Given the description of an element on the screen output the (x, y) to click on. 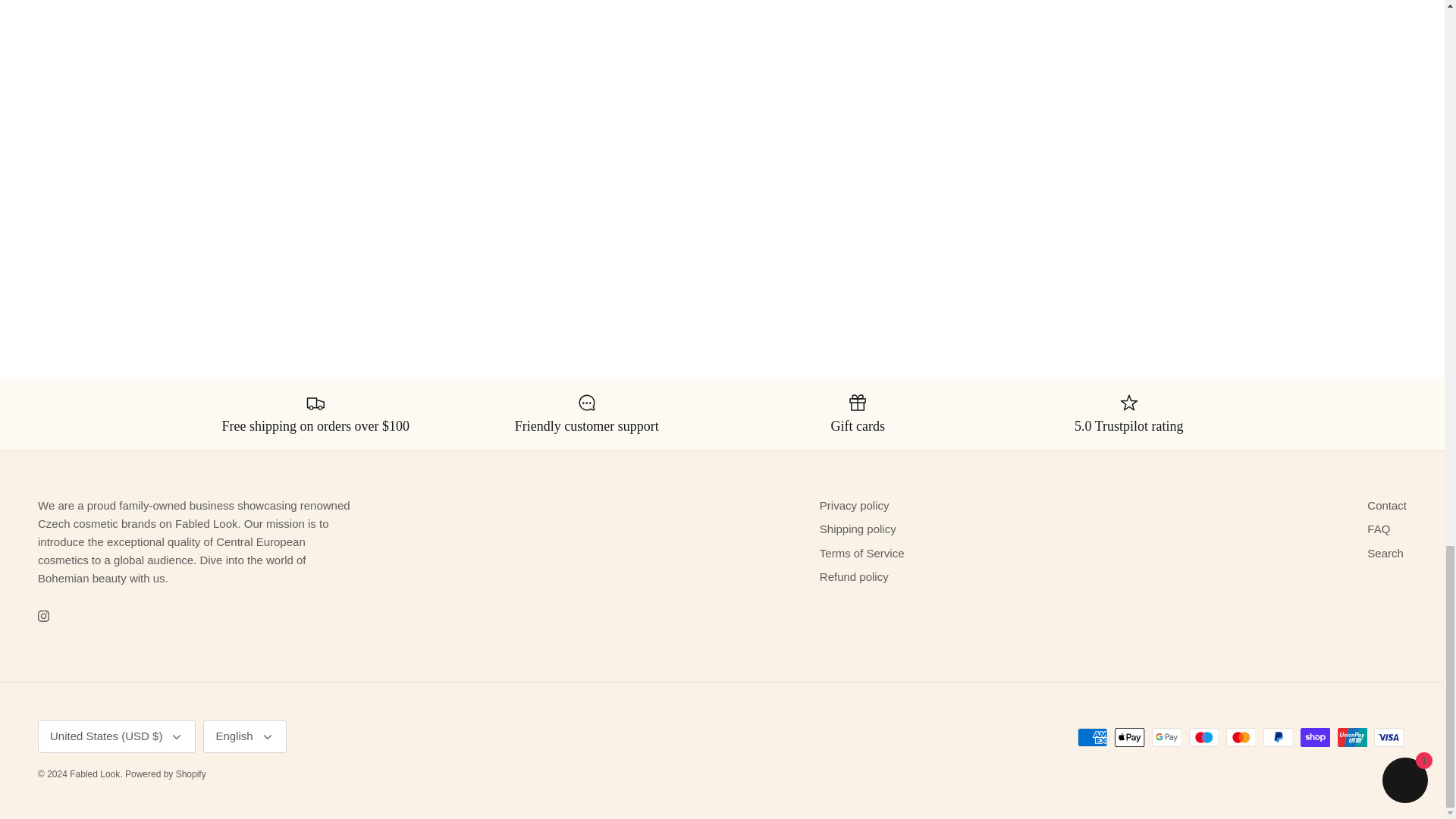
Apple Pay (1129, 737)
American Express (1092, 737)
Instagram (43, 615)
